Given the description of an element on the screen output the (x, y) to click on. 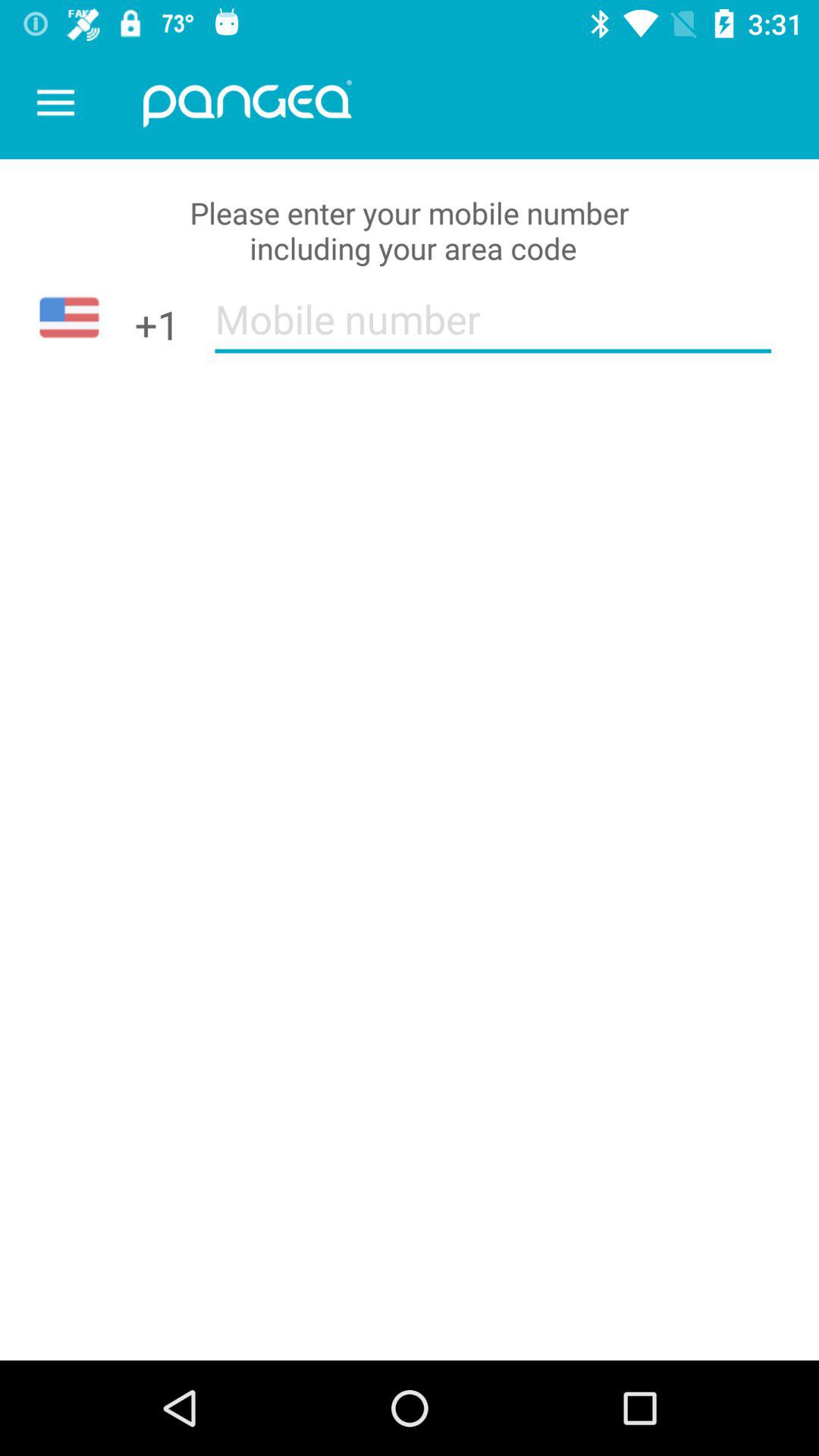
turn off icon next to +1 item (493, 329)
